Given the description of an element on the screen output the (x, y) to click on. 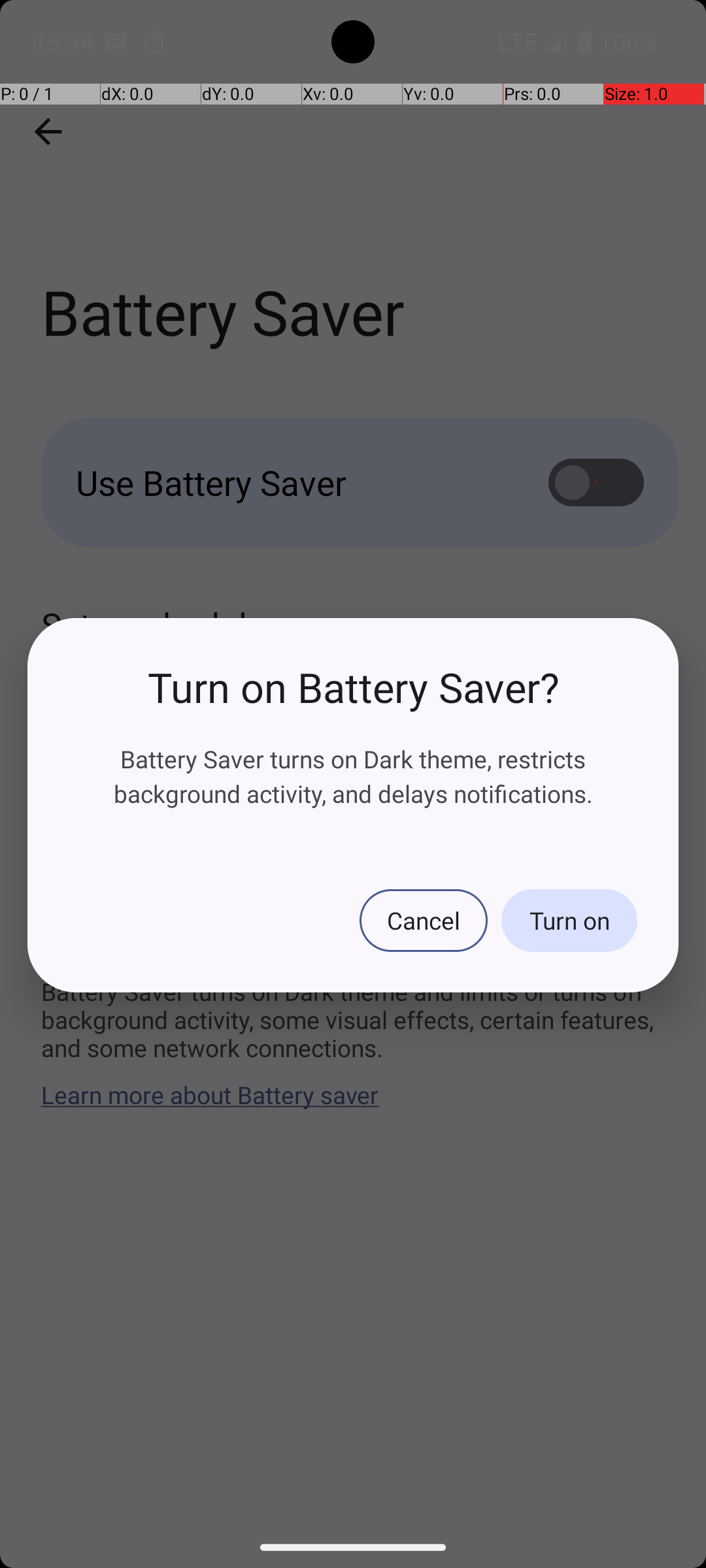
Turn on Battery Saver? Element type: android.widget.TextView (352, 686)
Battery Saver turns on Dark theme, restricts background activity, and delays notifications. Element type: android.widget.TextView (352, 776)
Turn on Element type: android.widget.Button (569, 920)
